Given the description of an element on the screen output the (x, y) to click on. 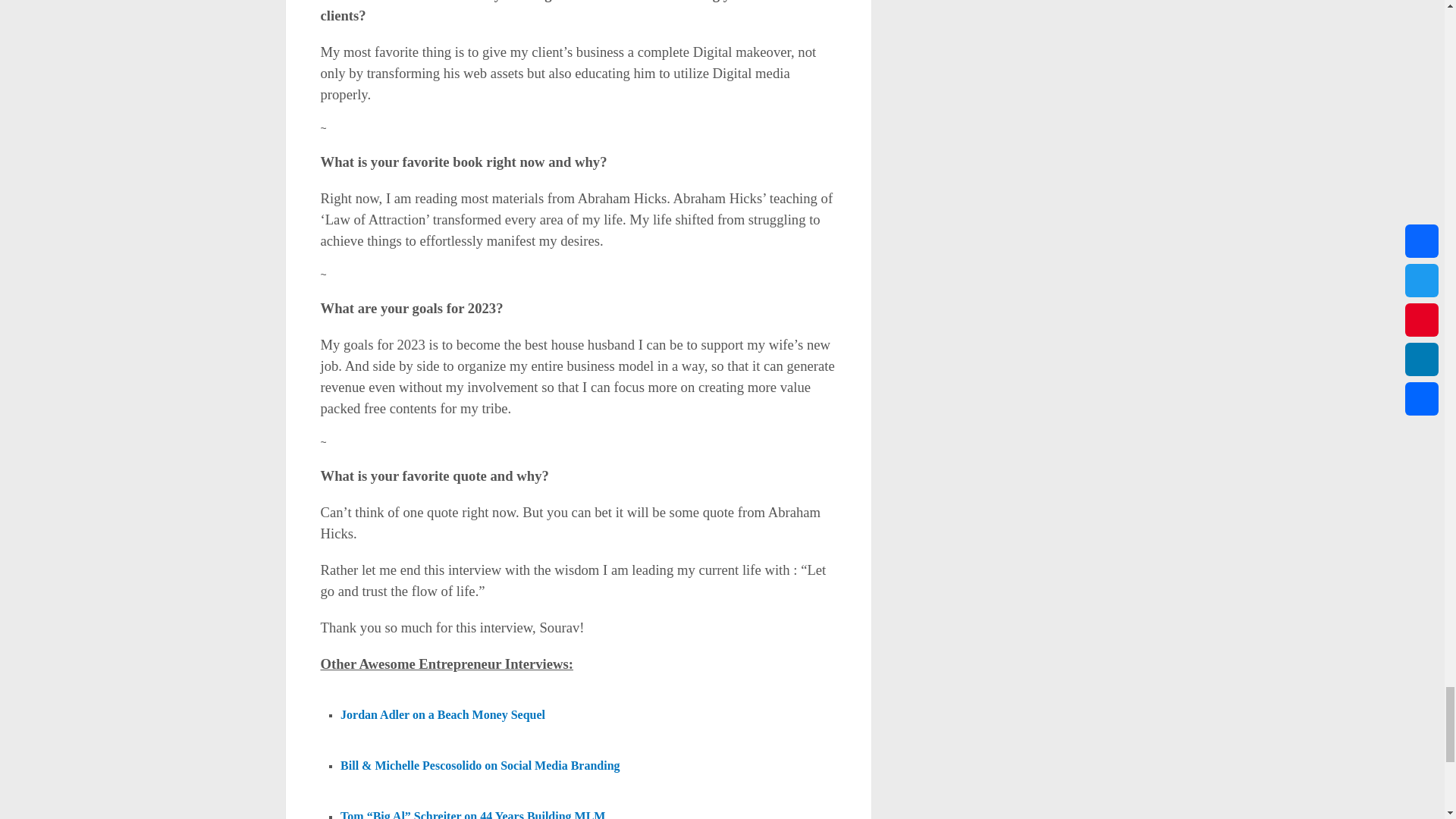
Jordan Adler on a Beach Money Sequel (442, 715)
